Given the description of an element on the screen output the (x, y) to click on. 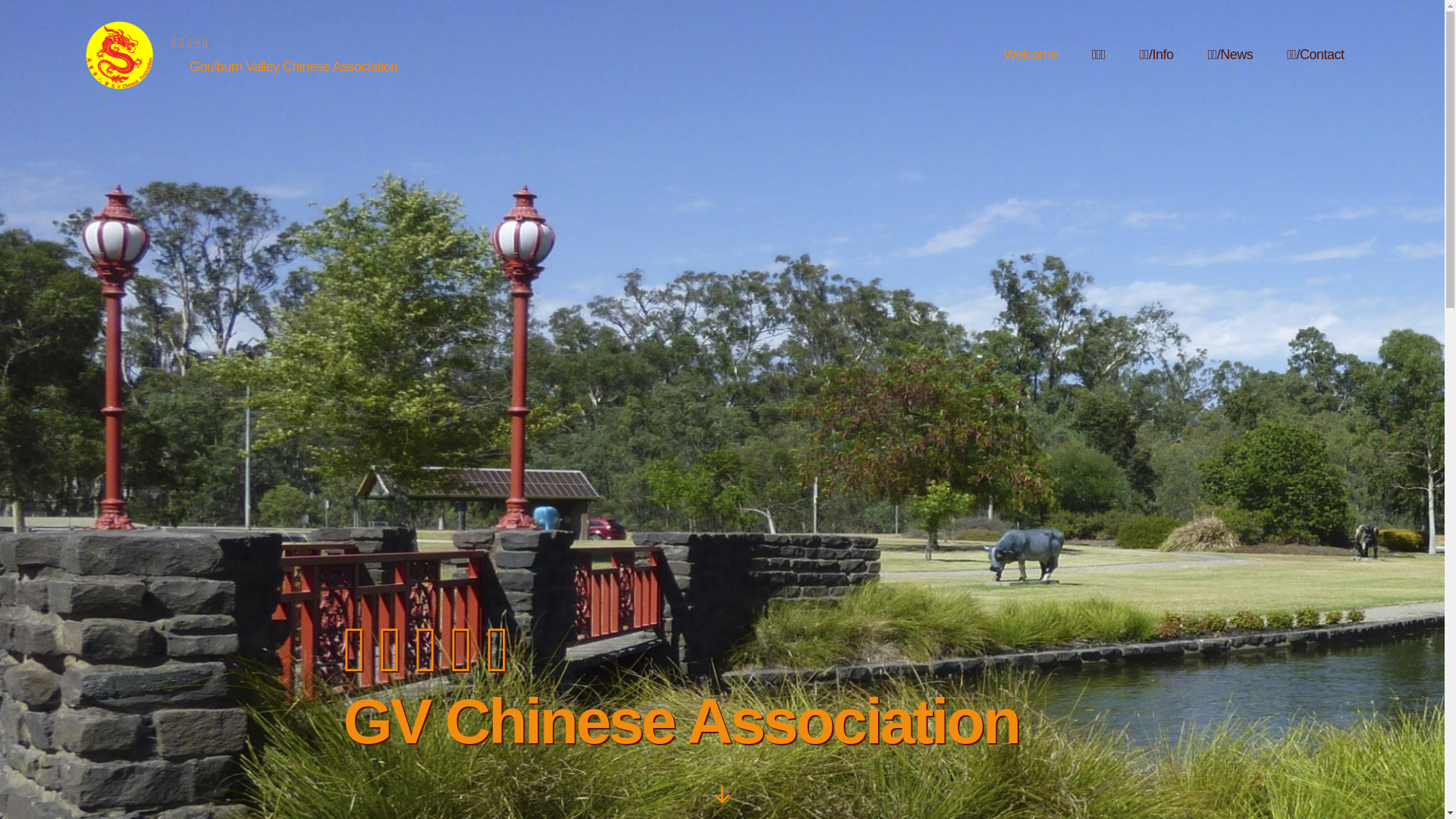
Scroll Down Element type: text (722, 794)
Welcome Element type: text (1038, 55)
